Given the description of an element on the screen output the (x, y) to click on. 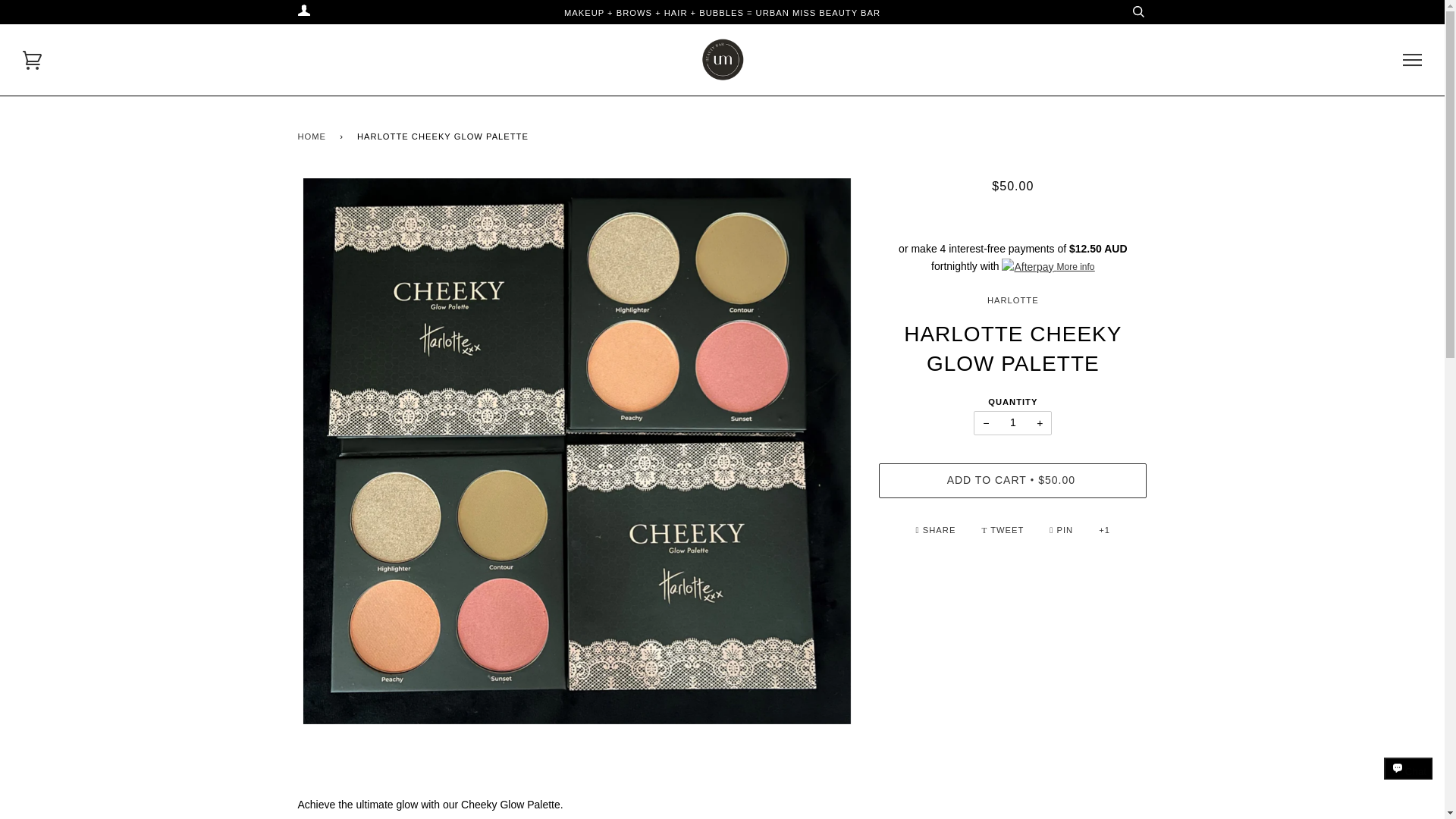
Back to the frontpage (314, 136)
Shopify online store chat (1408, 781)
Harlotte (1013, 299)
1 (1012, 422)
